Given the description of an element on the screen output the (x, y) to click on. 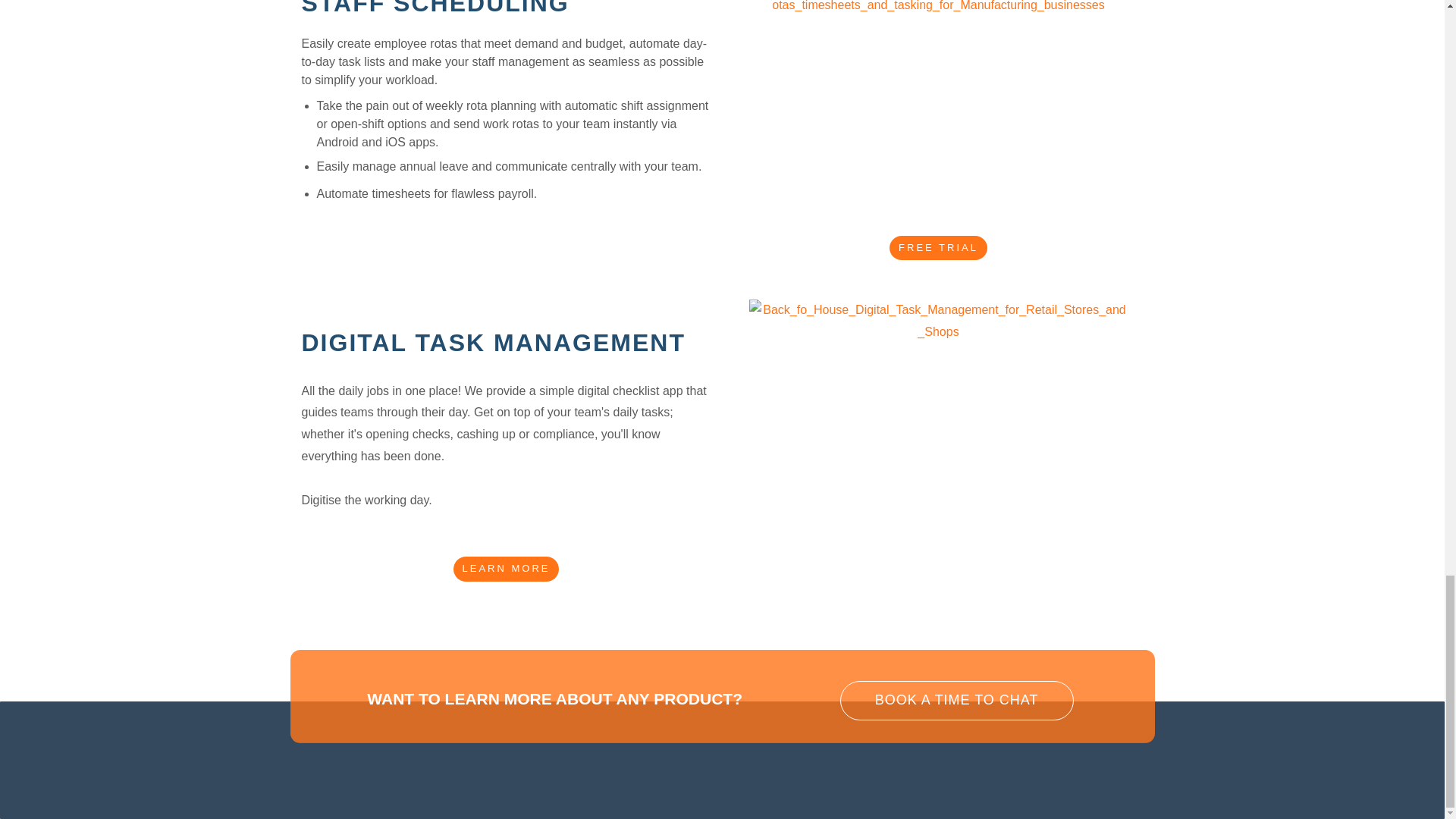
FREE TRIAL (938, 248)
BOOK A TIME TO CHAT (957, 700)
LEARN MORE (721, 696)
